Given the description of an element on the screen output the (x, y) to click on. 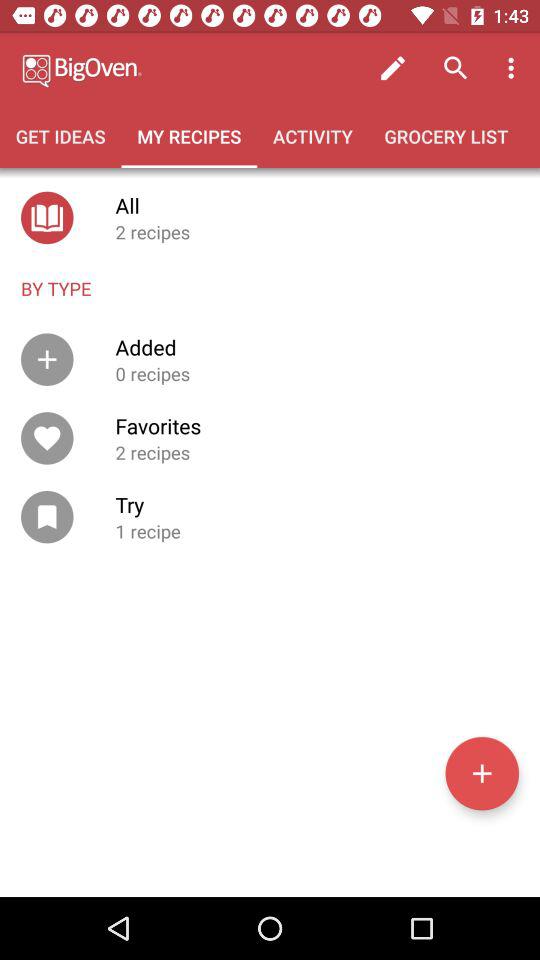
add item (482, 773)
